Given the description of an element on the screen output the (x, y) to click on. 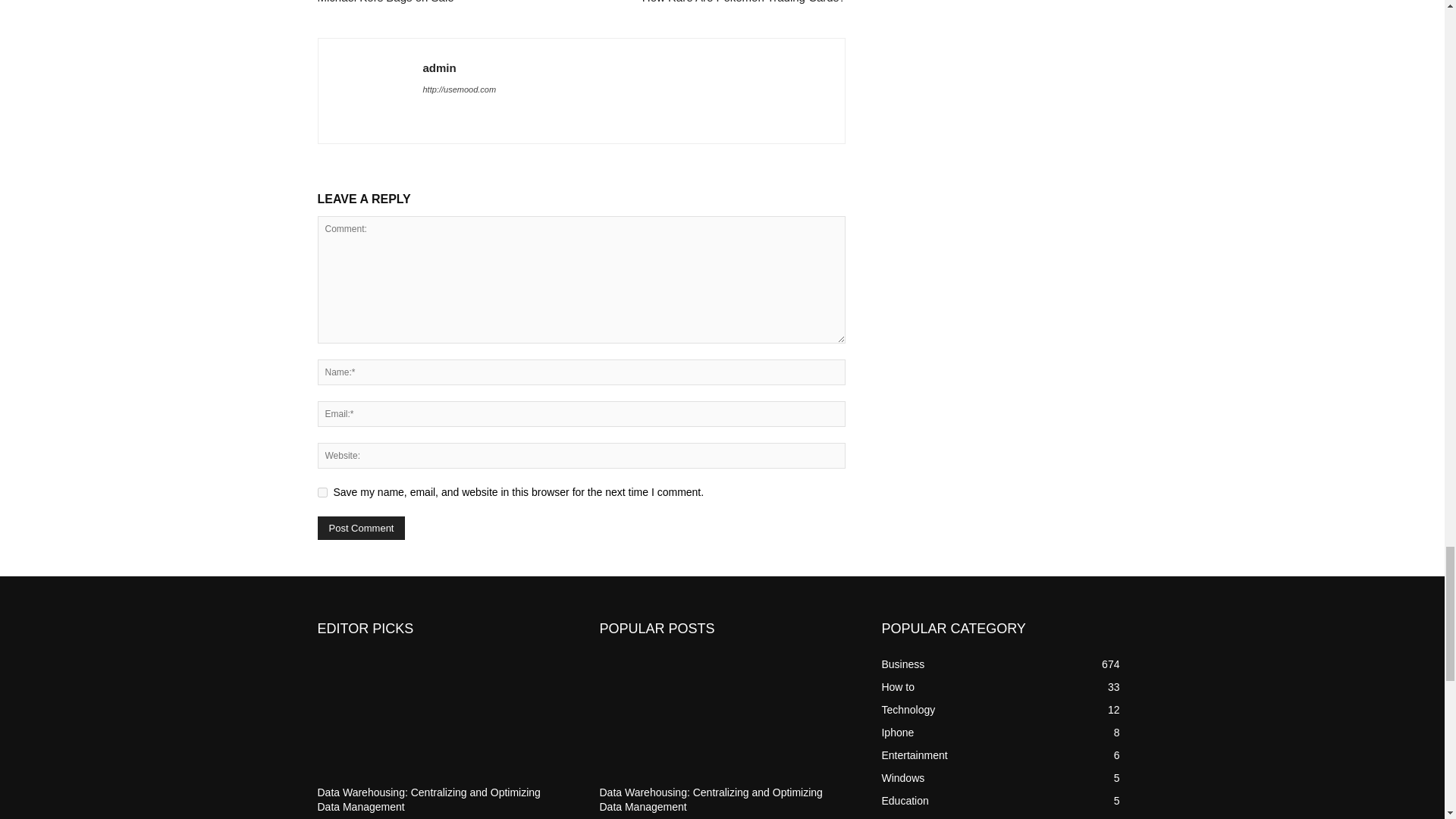
Post Comment (360, 527)
yes (321, 492)
